Given the description of an element on the screen output the (x, y) to click on. 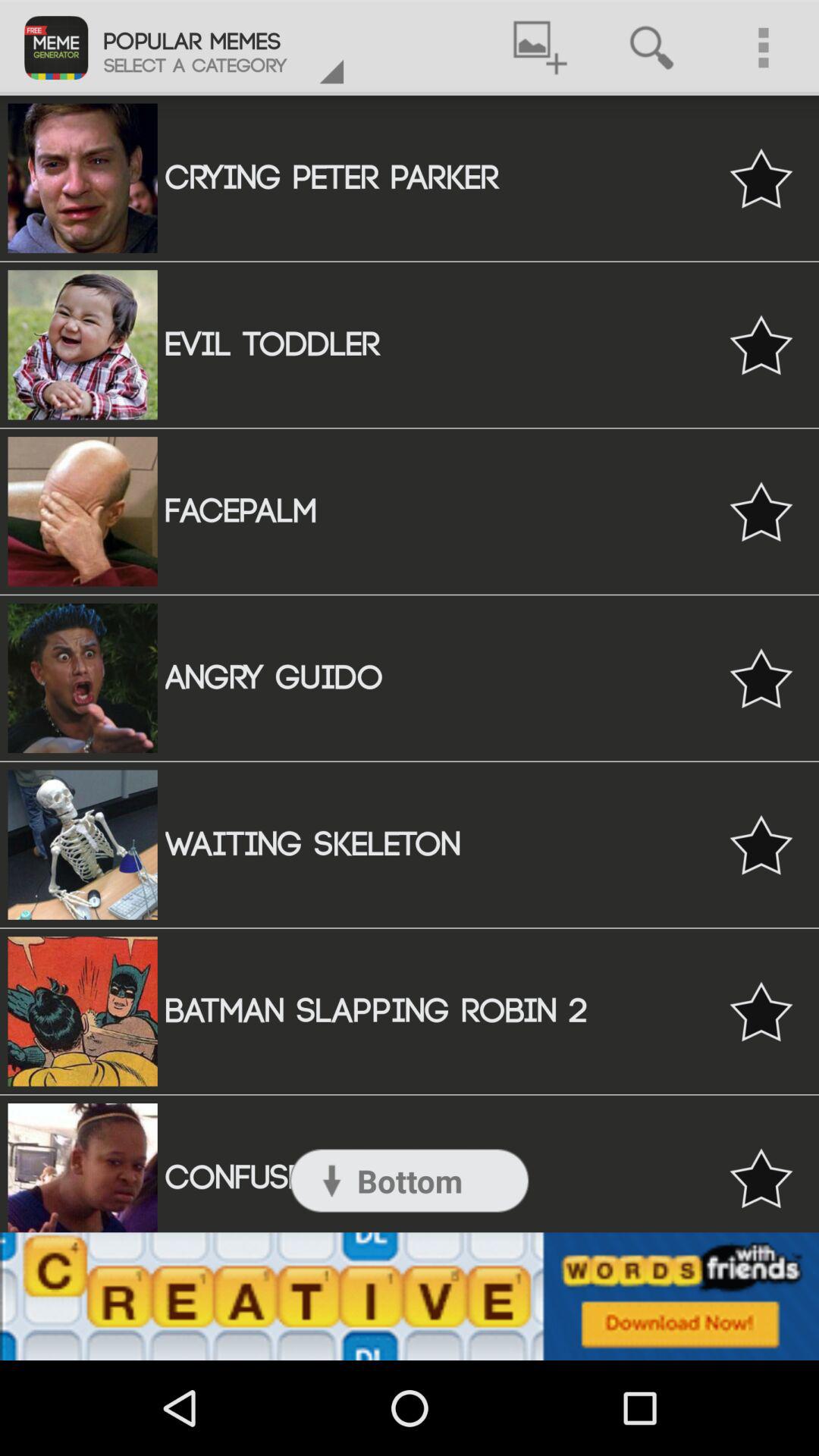
star (761, 178)
